Given the description of an element on the screen output the (x, y) to click on. 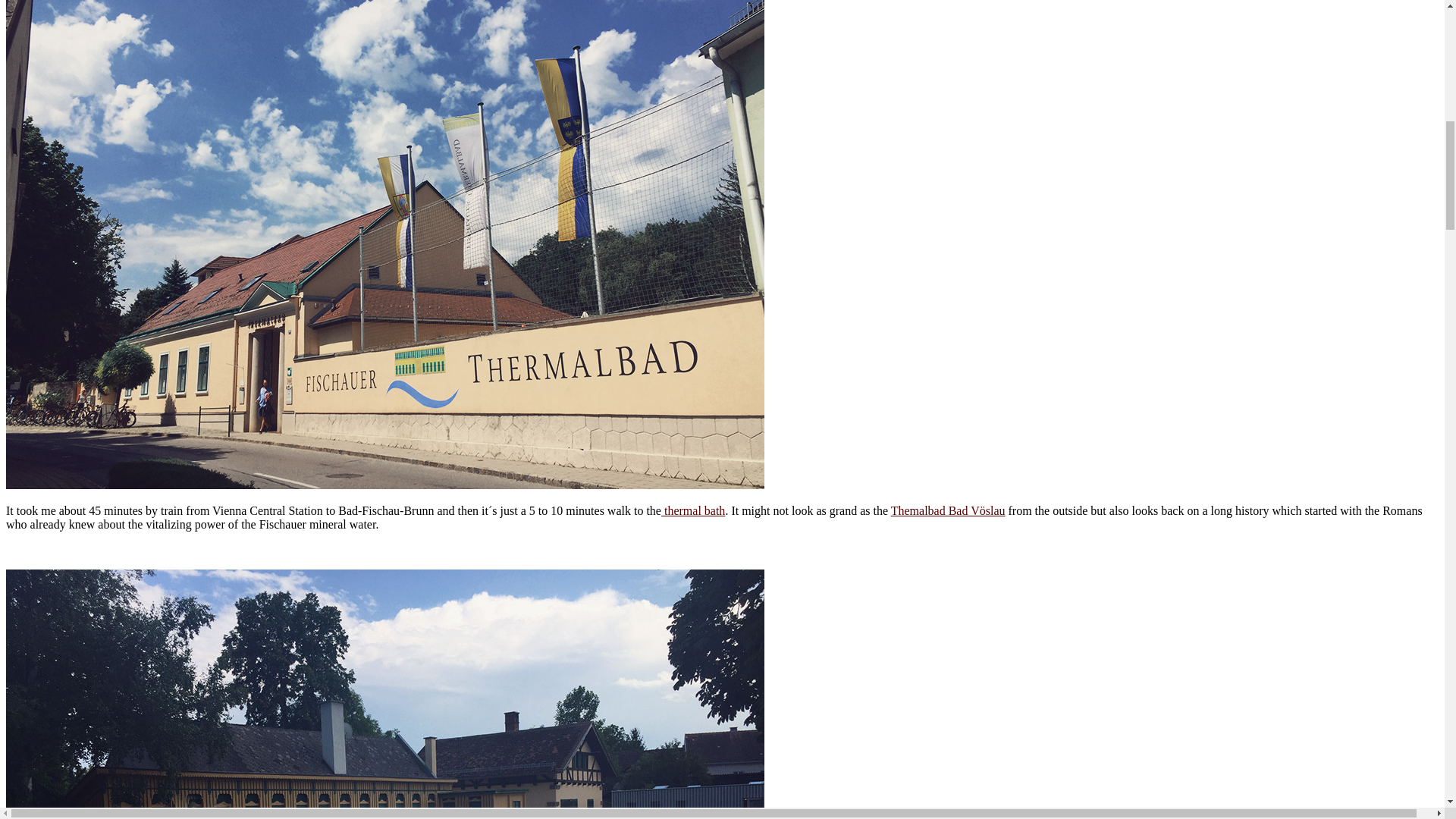
thermal bath (693, 510)
